Given the description of an element on the screen output the (x, y) to click on. 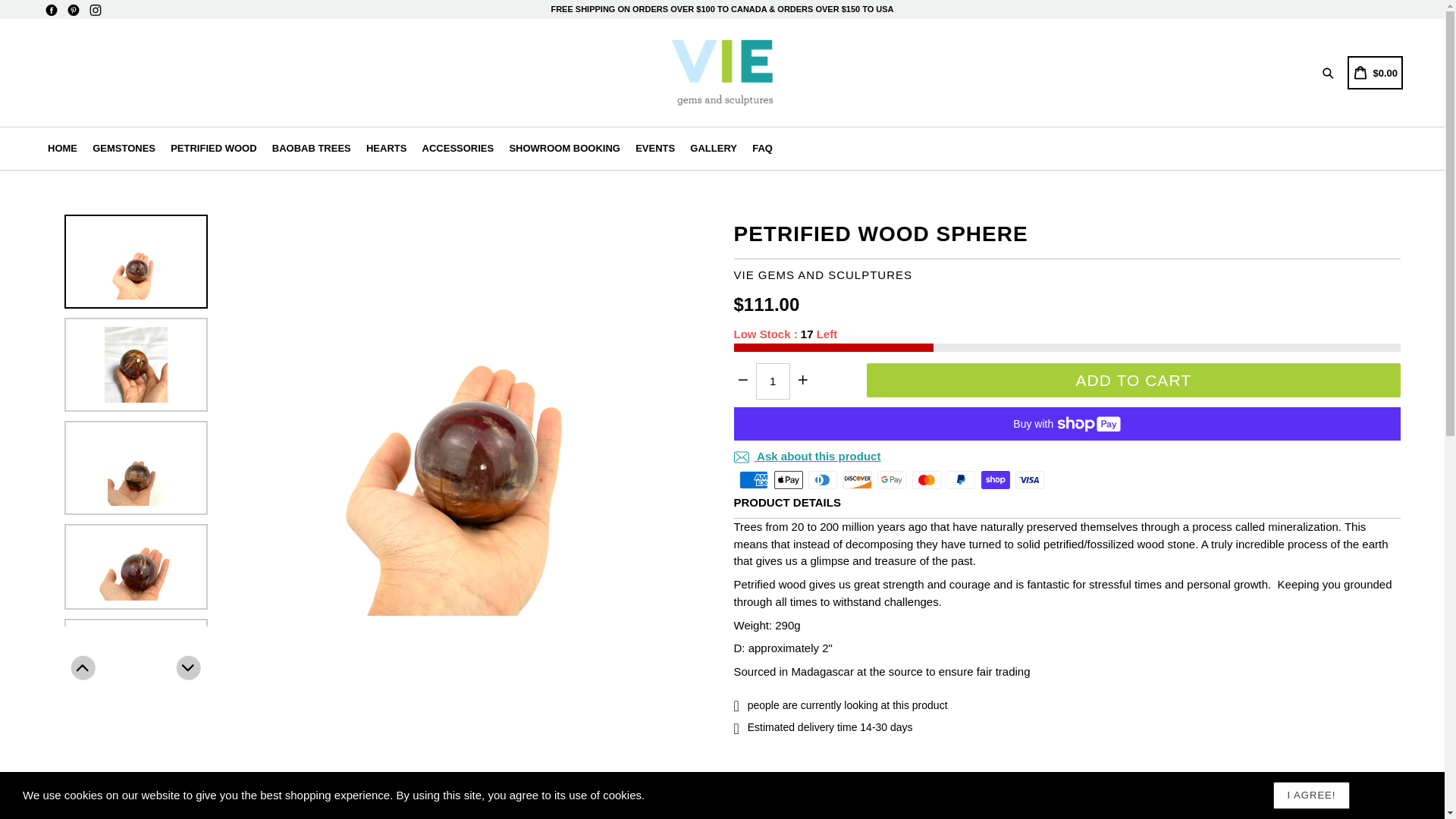
ACCESSORIES (458, 148)
NEXT SLIDE (188, 667)
PREVIOUS SLIDE (83, 667)
PETRIFIED WOOD (213, 148)
Vie Gems and Sculptures on Instagram (94, 10)
Pinterest (73, 10)
GEMSTONES (123, 148)
HOME (62, 148)
HEARTS (385, 148)
Facebook (51, 10)
Vie Gems and Sculptures on Facebook (51, 10)
Vie Gems and Sculptures on Pinterest (73, 10)
Search (1330, 72)
Instagram (94, 10)
SHOWROOM BOOKING (564, 148)
